Given the description of an element on the screen output the (x, y) to click on. 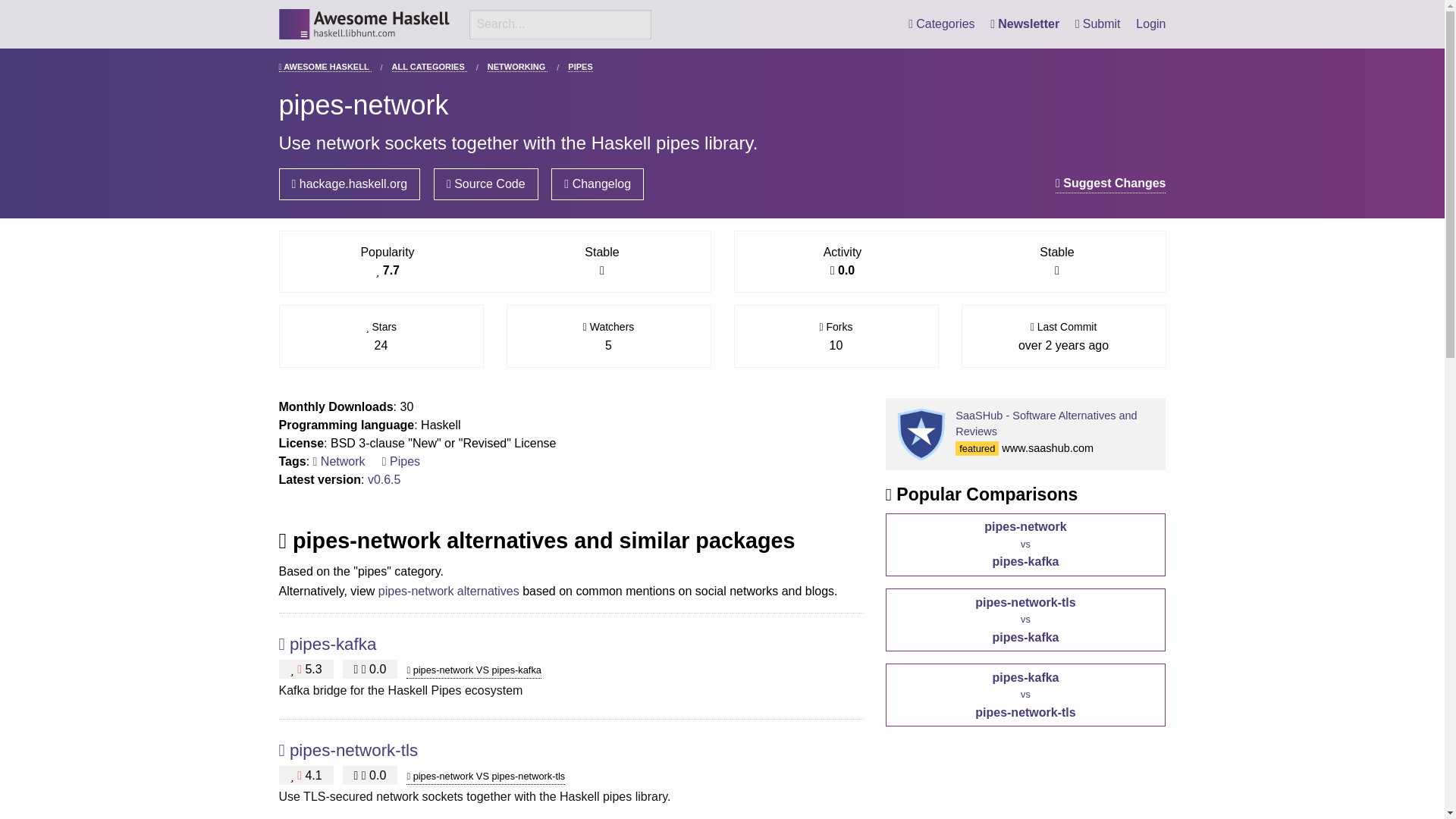
Compare pipes-network and pipes-kafka (1025, 544)
pipes-network VS pipes-network-tls (485, 776)
Network (339, 461)
v0.6.5 (384, 479)
pipes-network-tls (353, 750)
Changelog (597, 183)
PIPES (579, 67)
Source Code (485, 183)
Compare pipes-kafka and pipes-network-tls (1025, 694)
Awesome Haskell (364, 24)
